Given the description of an element on the screen output the (x, y) to click on. 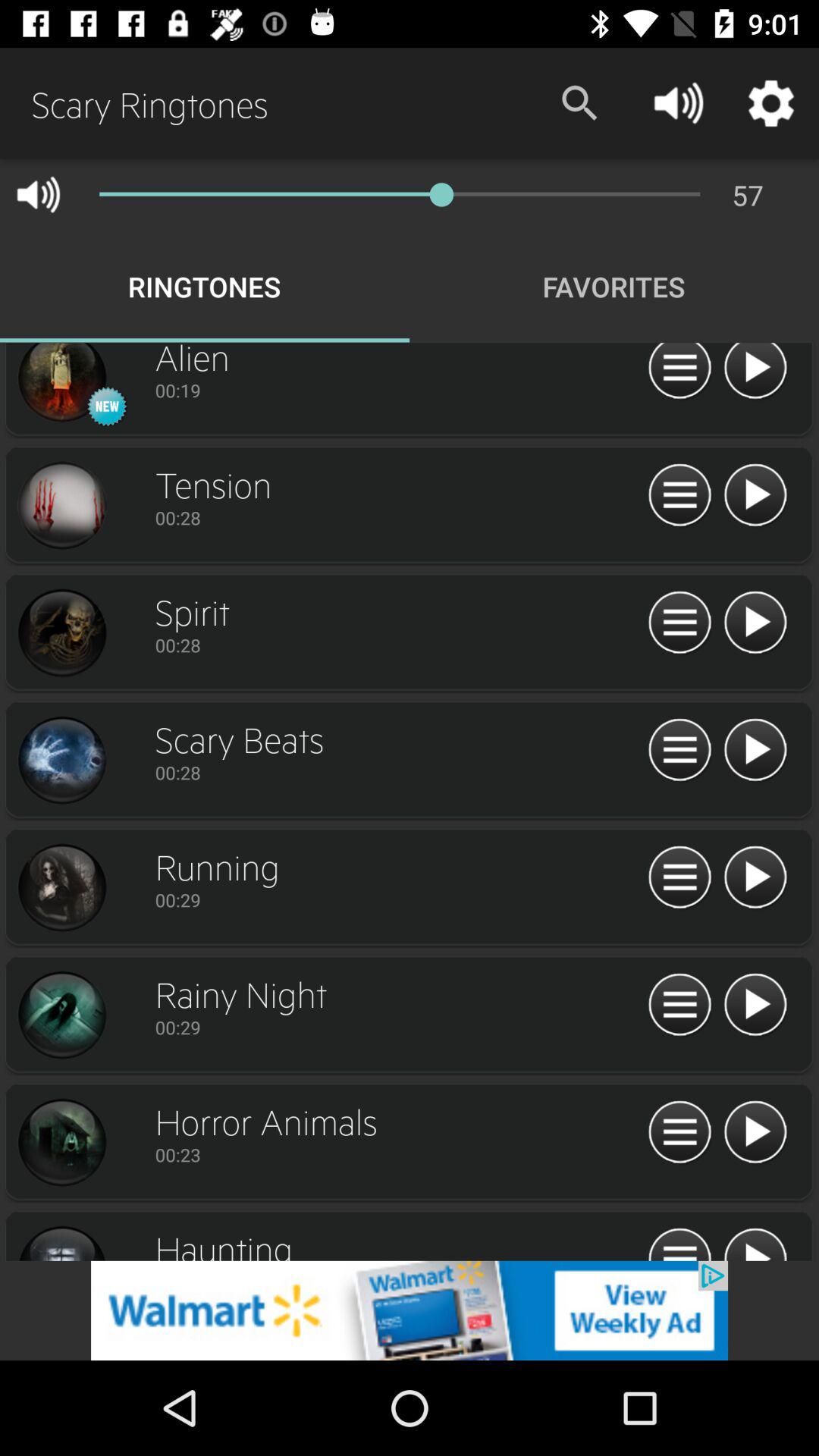
show menu (679, 623)
